Given the description of an element on the screen output the (x, y) to click on. 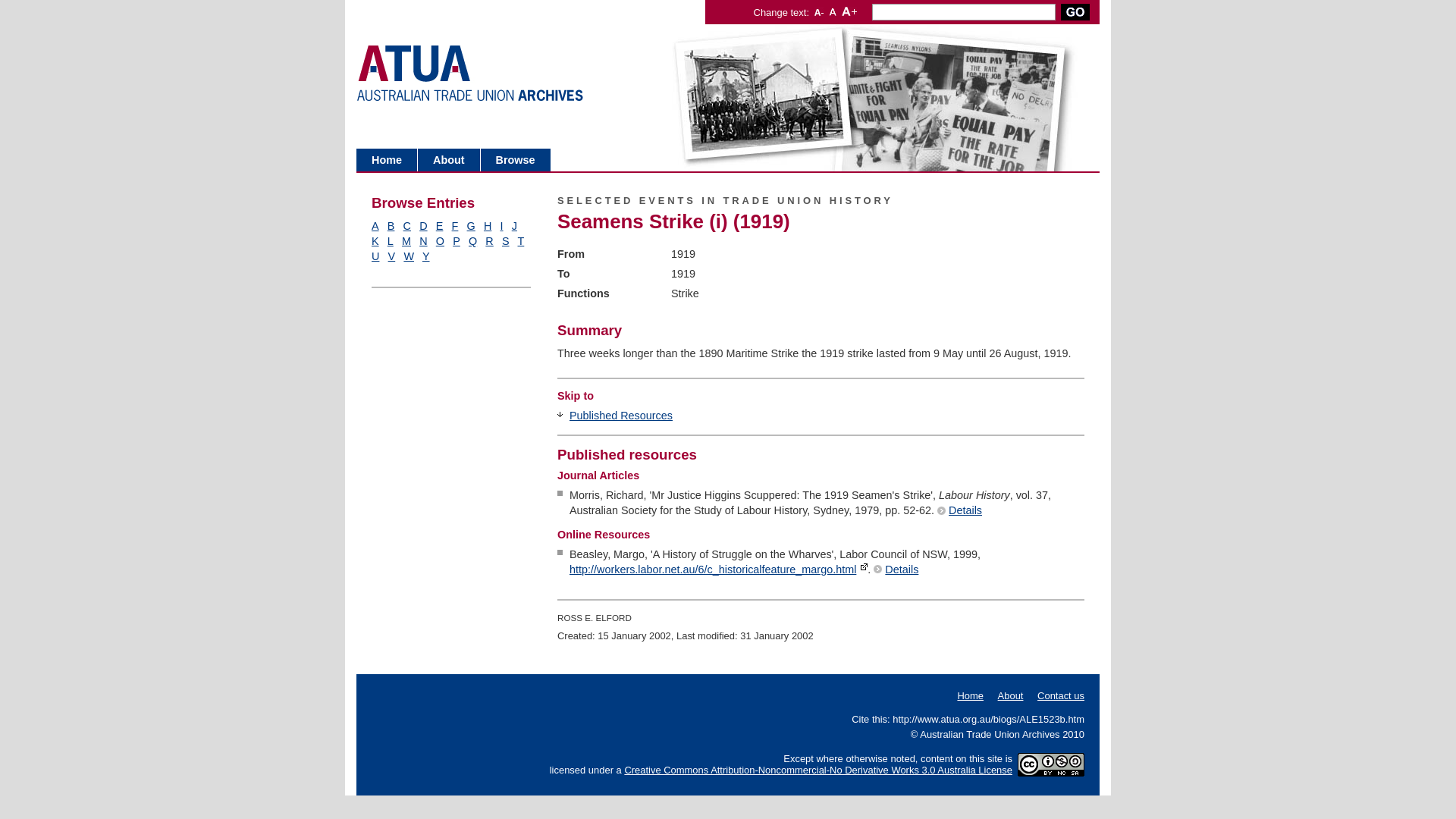
Details Element type: text (959, 510)
E Element type: text (439, 225)
V Element type: text (391, 256)
K Element type: text (375, 241)
U Element type: text (375, 256)
B Element type: text (391, 225)
Y Element type: text (425, 256)
N Element type: text (422, 241)
About Element type: text (1010, 695)
G Element type: text (471, 225)
C Element type: text (407, 225)
About Element type: text (448, 159)
T Element type: text (520, 241)
Home Element type: text (970, 695)
S Element type: text (505, 241)
M Element type: text (406, 241)
Published Resources Element type: text (620, 415)
A Element type: text (375, 225)
Q Element type: text (472, 241)
J Element type: text (514, 225)
H Element type: text (487, 225)
R Element type: text (488, 241)
P Element type: text (456, 241)
D Element type: text (422, 225)
L Element type: text (390, 241)
O Element type: text (440, 241)
Browse Element type: text (515, 159)
Home Element type: text (386, 159)
F Element type: text (454, 225)
Details Element type: text (895, 569)
W Element type: text (408, 256)
Contact us Element type: text (1060, 695)
I Element type: text (501, 225)
http://workers.labor.net.au/6/c_historicalfeature_margo.html Element type: text (718, 569)
